Given the description of an element on the screen output the (x, y) to click on. 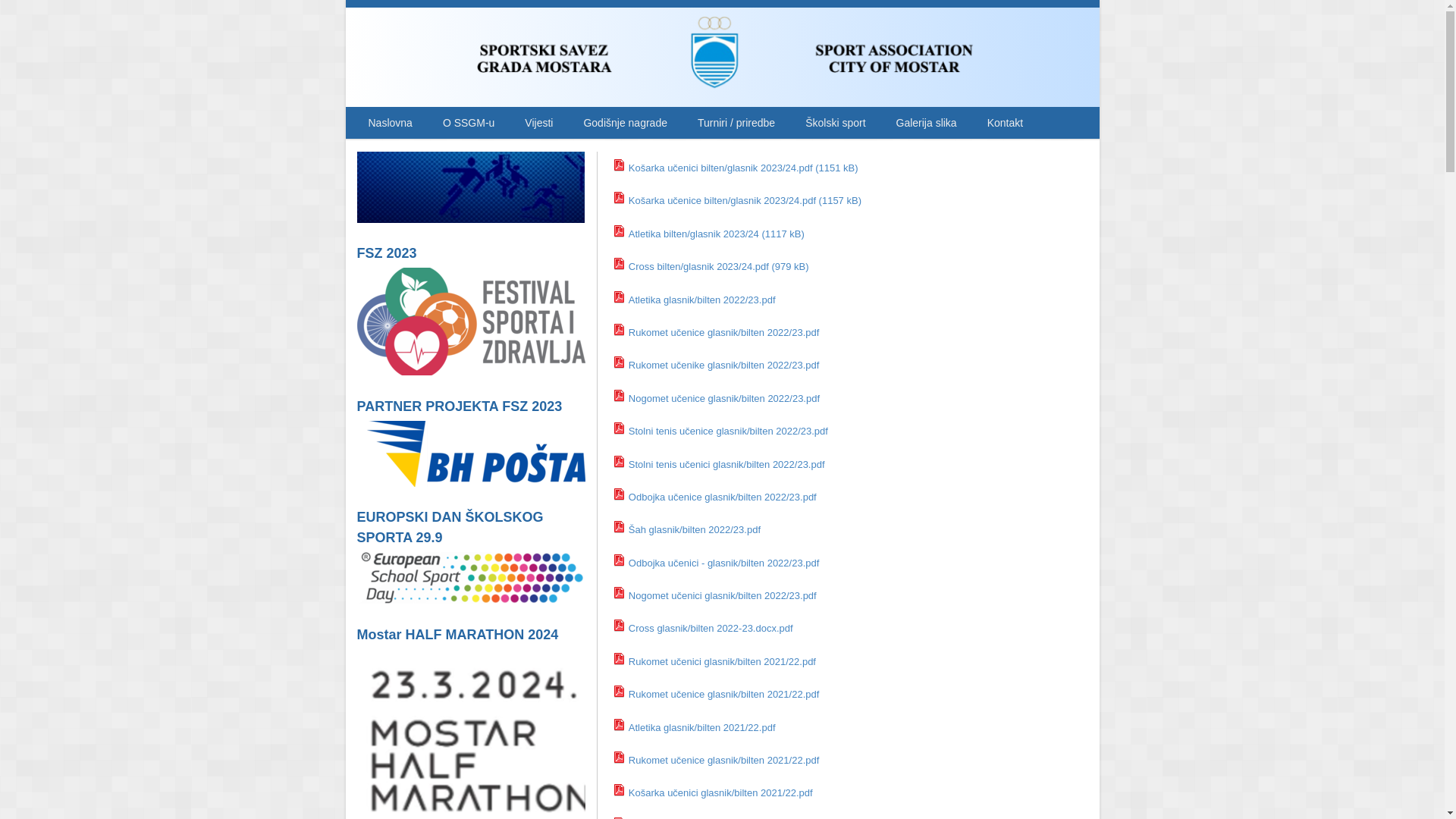
Kontakt Element type: text (1004, 122)
Atletika bilten/glasnik 2023/24 (1117 kB) Element type: text (716, 233)
Atletika glasnik/bilten 2021/22.pdf Element type: text (701, 727)
Cross bilten/glasnik 2023/24.pdf (979 kB) Element type: text (718, 266)
Cross glasnik/bilten 2022-23.docx.pdf Element type: text (710, 627)
Galerija slika Element type: text (926, 122)
Atletika glasnik/bilten 2022/23.pdf Element type: text (701, 299)
O SSGM-u Element type: text (468, 122)
Vijesti Element type: text (538, 122)
Naslovna Element type: text (390, 122)
Turniri / priredbe Element type: text (736, 122)
